Given the description of an element on the screen output the (x, y) to click on. 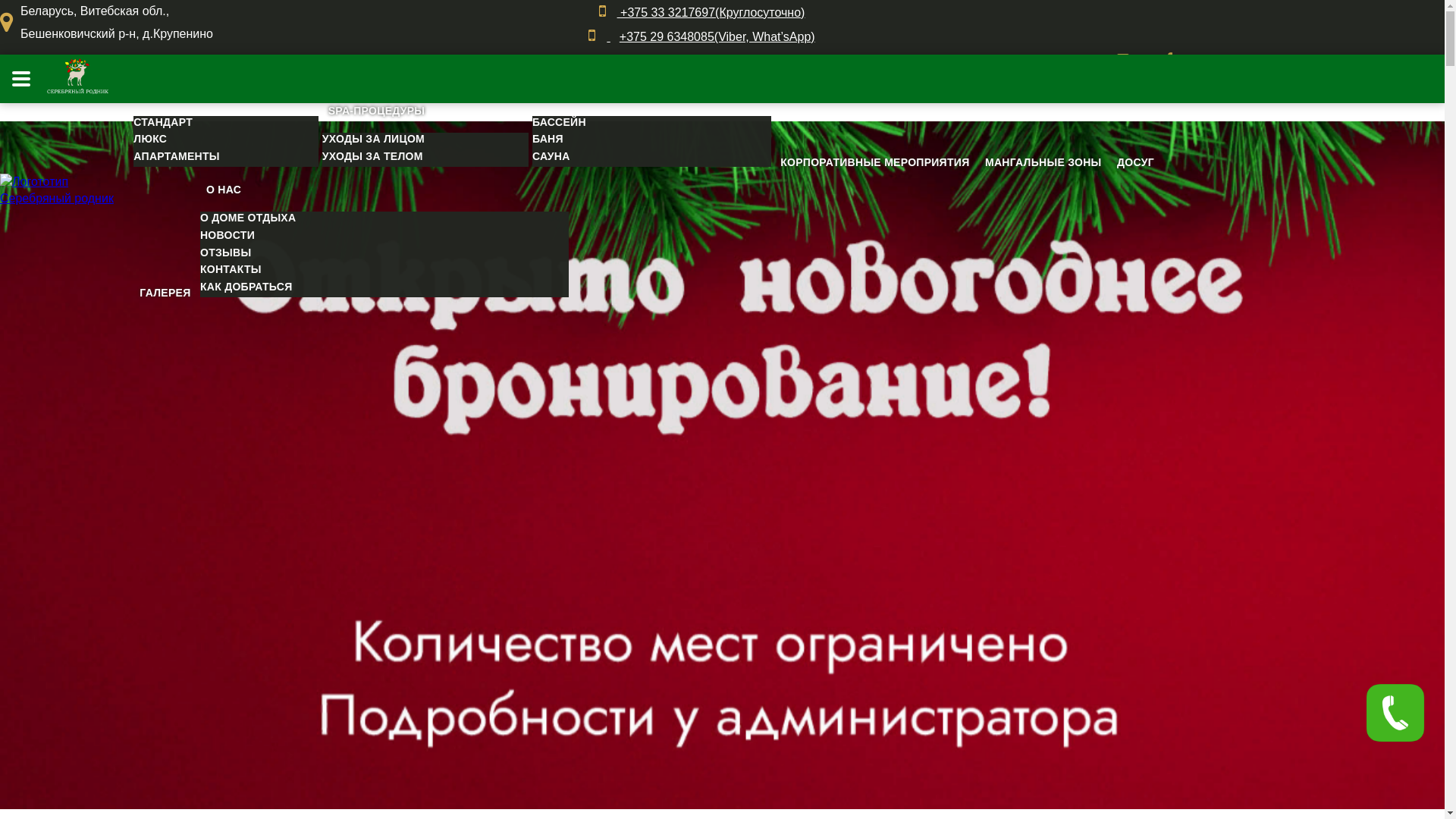
s-rodnik@bk.ru Element type: text (1046, 59)
